Given the description of an element on the screen output the (x, y) to click on. 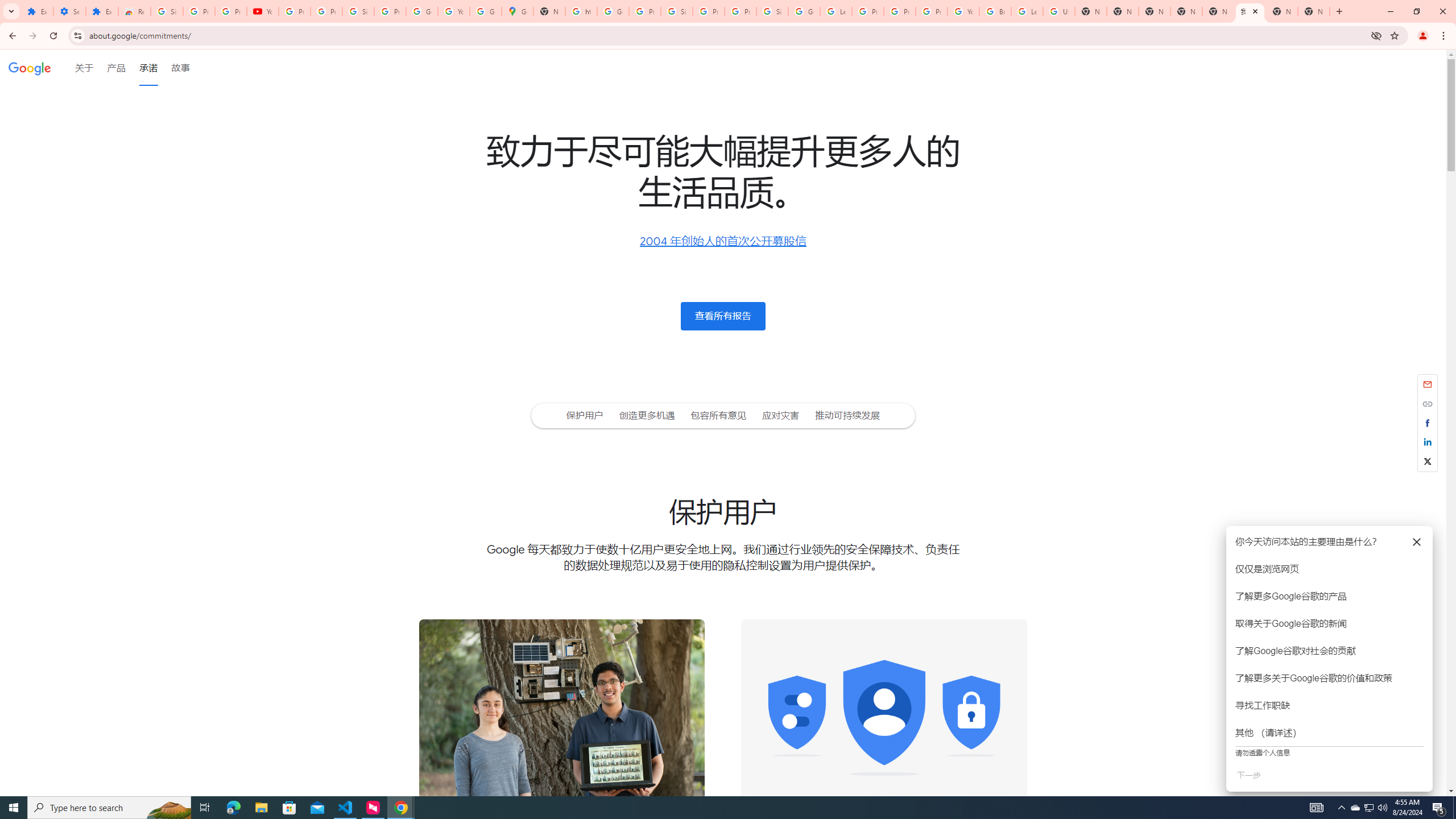
Extensions (37, 11)
